Given the description of an element on the screen output the (x, y) to click on. 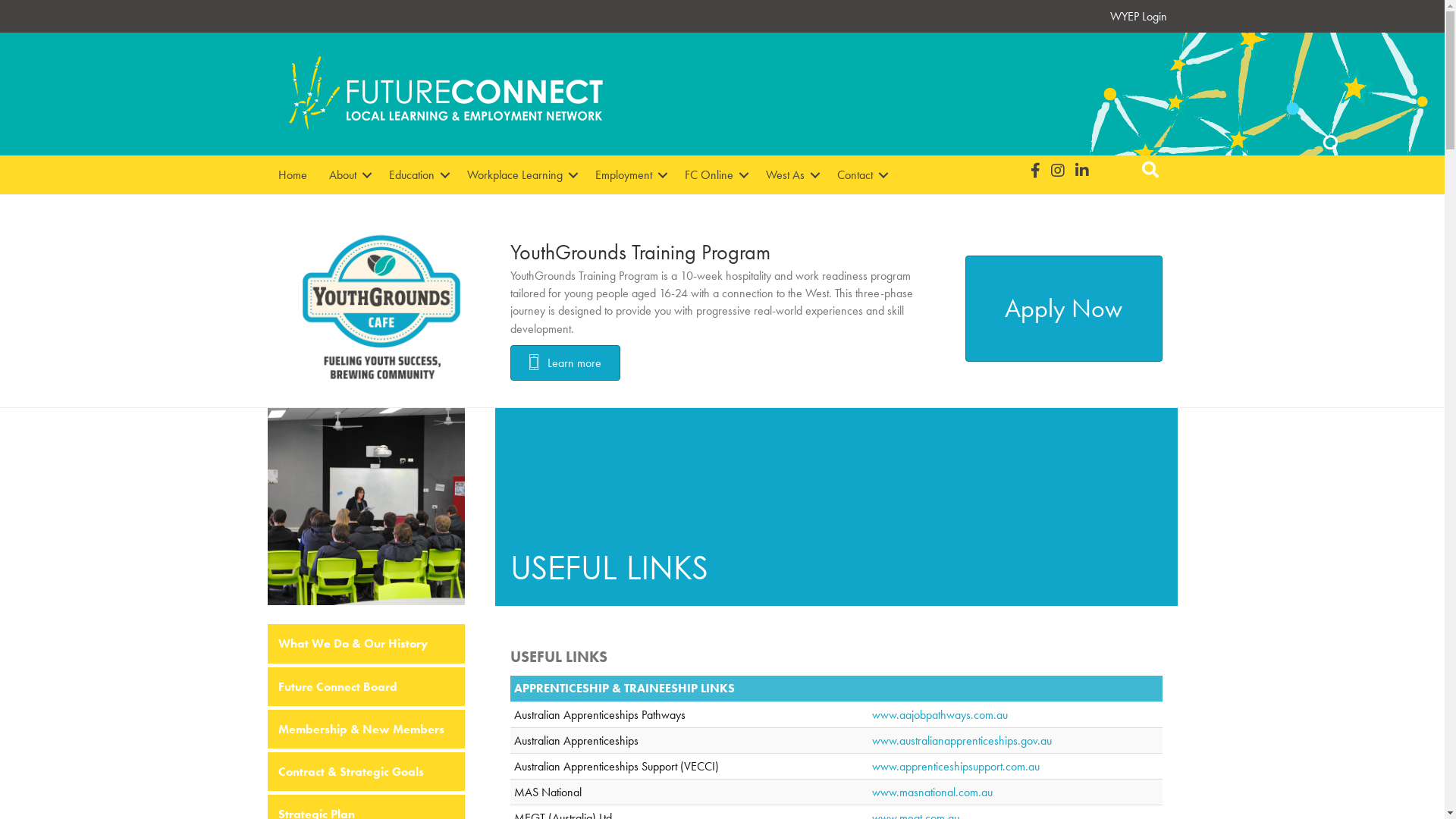
Employment Element type: text (627, 174)
Workplace Learning Element type: text (519, 174)
Contact Element type: text (860, 174)
www.masnational.com.au Element type: text (932, 792)
Education Element type: text (416, 174)
Contract & Strategic Goals Element type: text (365, 771)
Apply Now Element type: text (1062, 308)
www.apprenticeshipsupport.com.au Element type: text (955, 766)
Future Connect Board Element type: text (365, 686)
FC Online Element type: text (713, 174)
WYEP Login Element type: text (1138, 16)
YouthGrounds Cafe Capitals - FINAL Element type: hover (380, 308)
www.australianapprenticeships.gov.au Element type: text (961, 740)
Home Element type: text (291, 174)
Future_Connect_Logo_For_Header_470x162 Element type: hover (444, 93)
About Element type: text (347, 174)
www.aajobpathways.com.au Element type: text (939, 714)
What We Do & Our History Element type: text (365, 643)
TTC Taster Day 2-31 7 2015 Element type: hover (365, 506)
West As Element type: text (790, 174)
Learn more Element type: text (564, 362)
Membership & New Members Element type: text (365, 728)
